Given the description of an element on the screen output the (x, y) to click on. 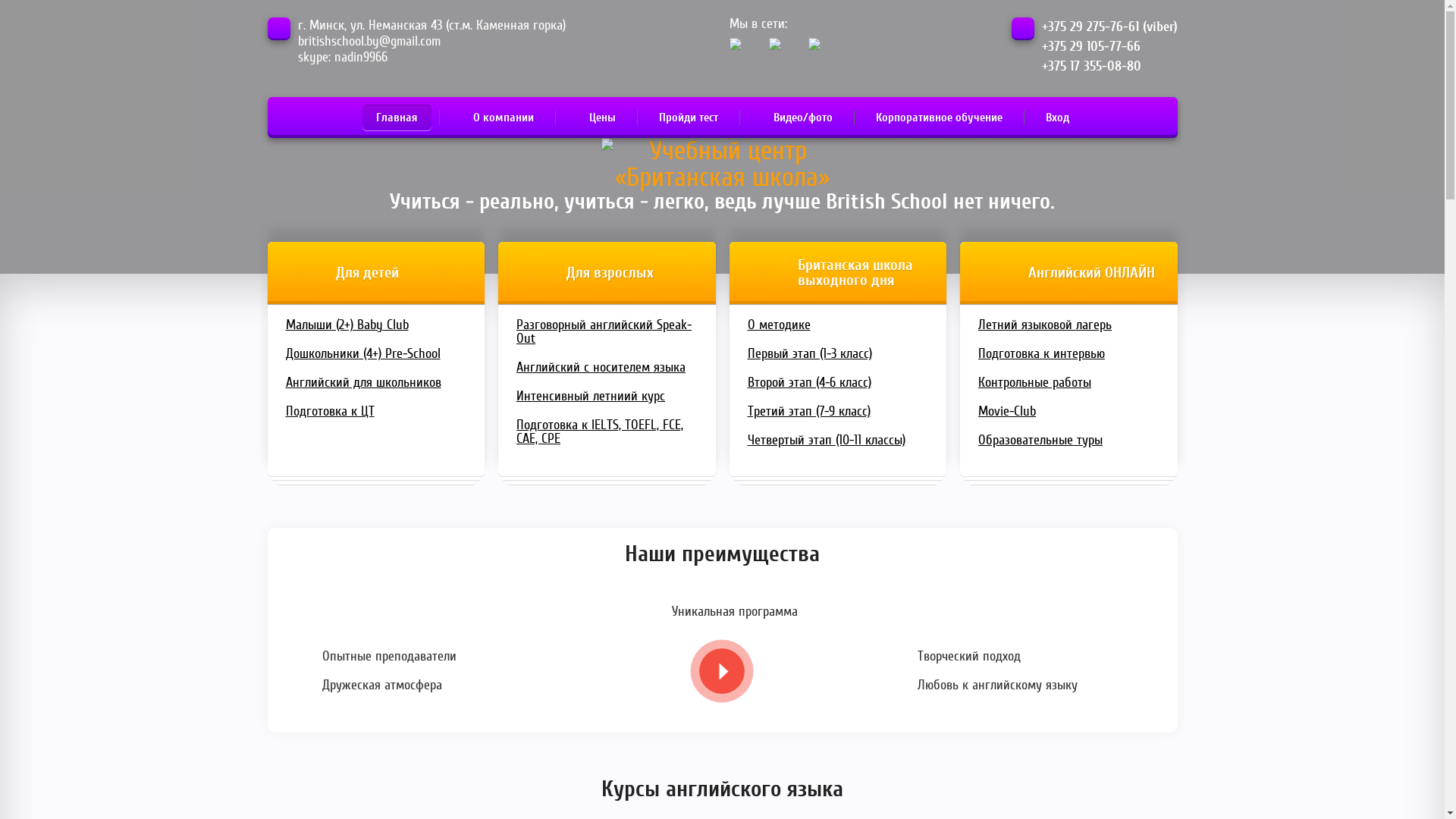
+375 29 275-76-61 (viber) Element type: text (1109, 26)
Movie-Club Element type: text (1068, 411)
+375 17 355-08-80 Element type: text (1091, 66)
+375 29 105-77-66 Element type: text (1090, 46)
